Given the description of an element on the screen output the (x, y) to click on. 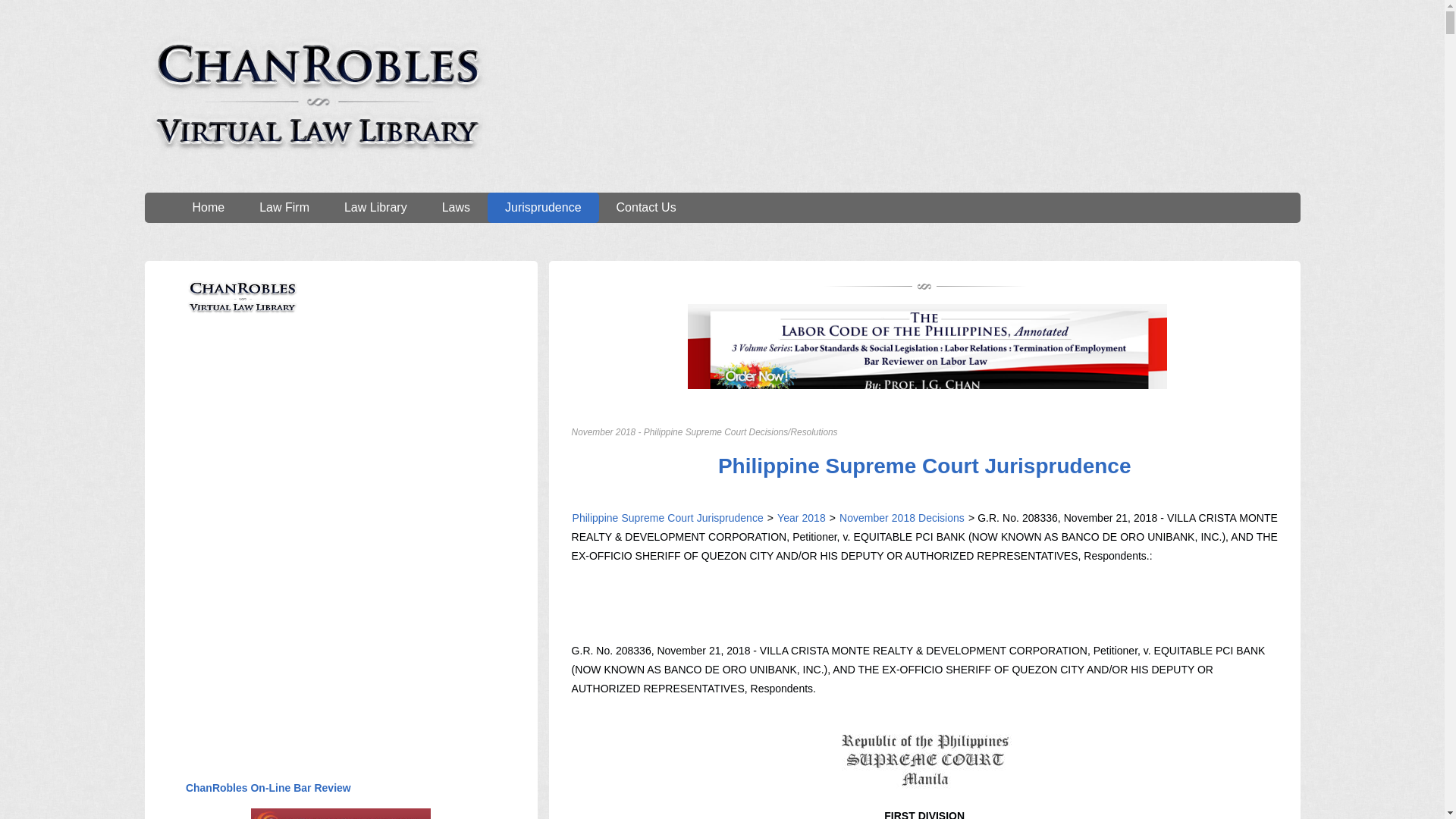
ChanRobles On-Line Bar Review (268, 787)
November 2018 Decisions (900, 517)
Laws (456, 207)
Advertisement (298, 452)
Jurisprudence (542, 207)
Advertisement (298, 647)
Law Firm (283, 207)
Contact Us (646, 207)
Year 2018 (801, 517)
Home (207, 207)
Philippine Supreme Court Jurisprudence (668, 517)
Philippine Supreme Court Jurisprudence (924, 465)
Law Library (375, 207)
